Given the description of an element on the screen output the (x, y) to click on. 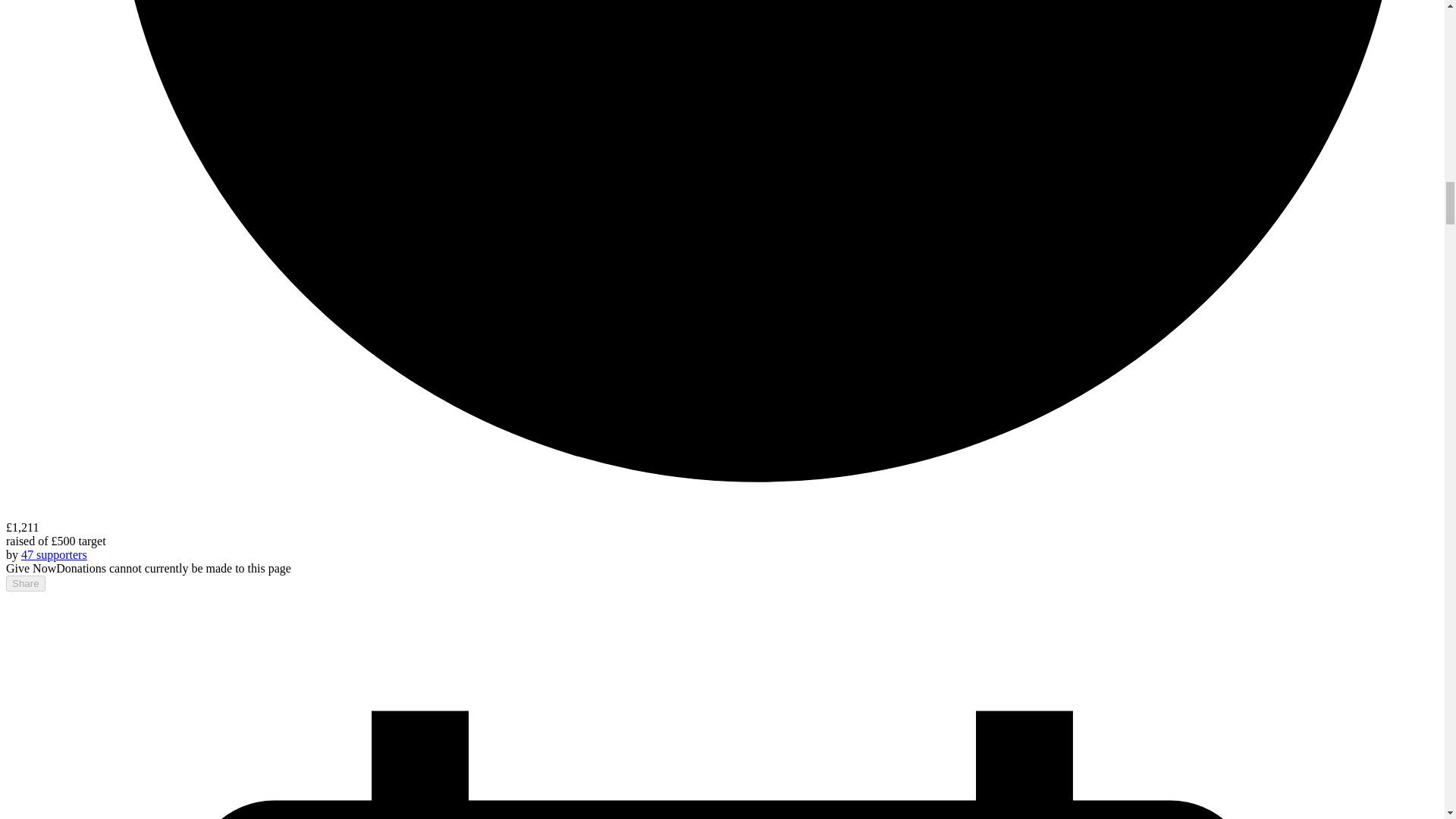
47 supporters (54, 554)
Share (25, 583)
